Given the description of an element on the screen output the (x, y) to click on. 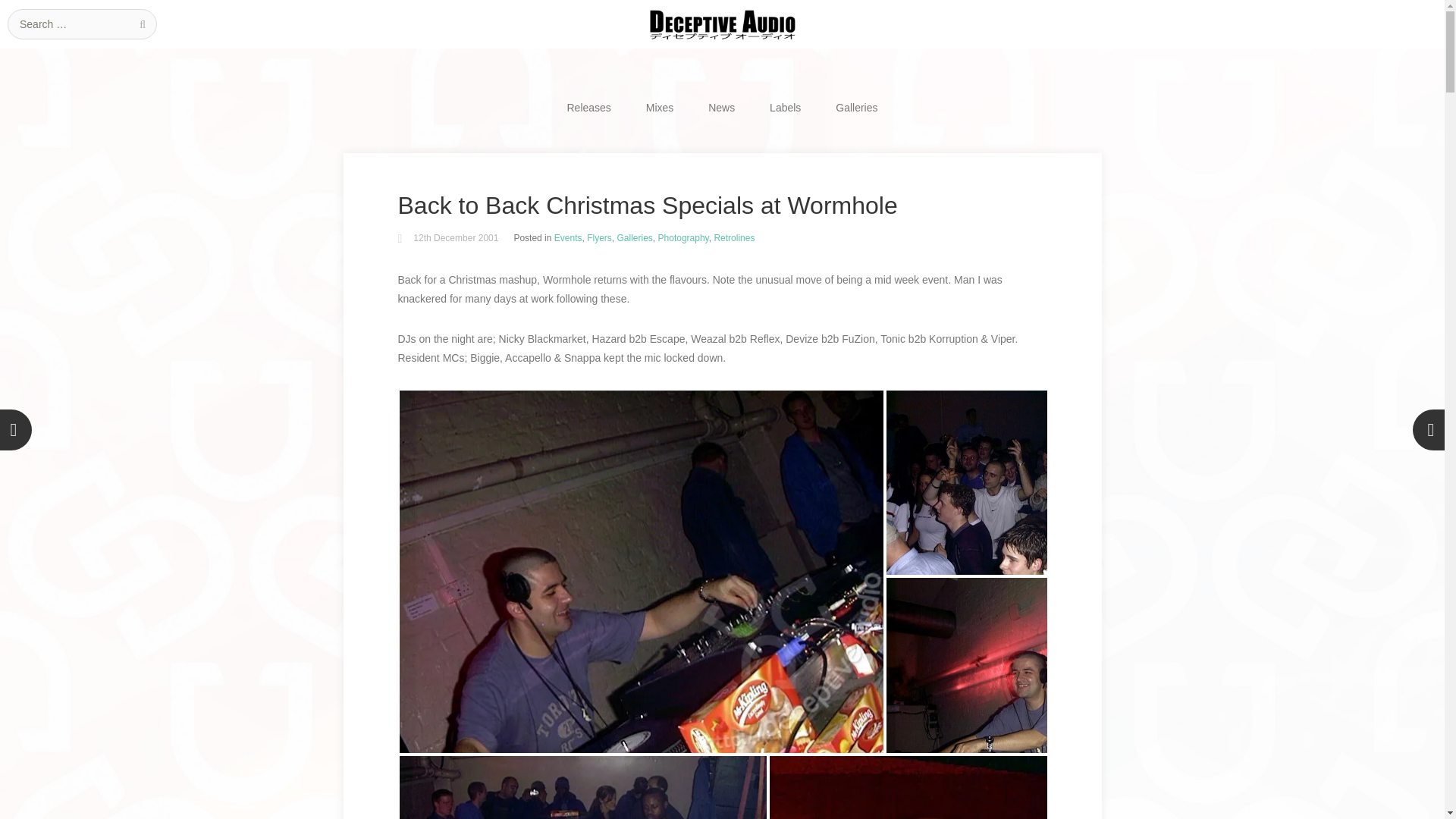
Galleries (634, 237)
Search for: (82, 24)
Flyers (598, 237)
Galleries (856, 107)
News (722, 107)
Photography (683, 237)
Mixes (660, 107)
Releases (588, 107)
Events (568, 237)
Labels (785, 107)
